Given the description of an element on the screen output the (x, y) to click on. 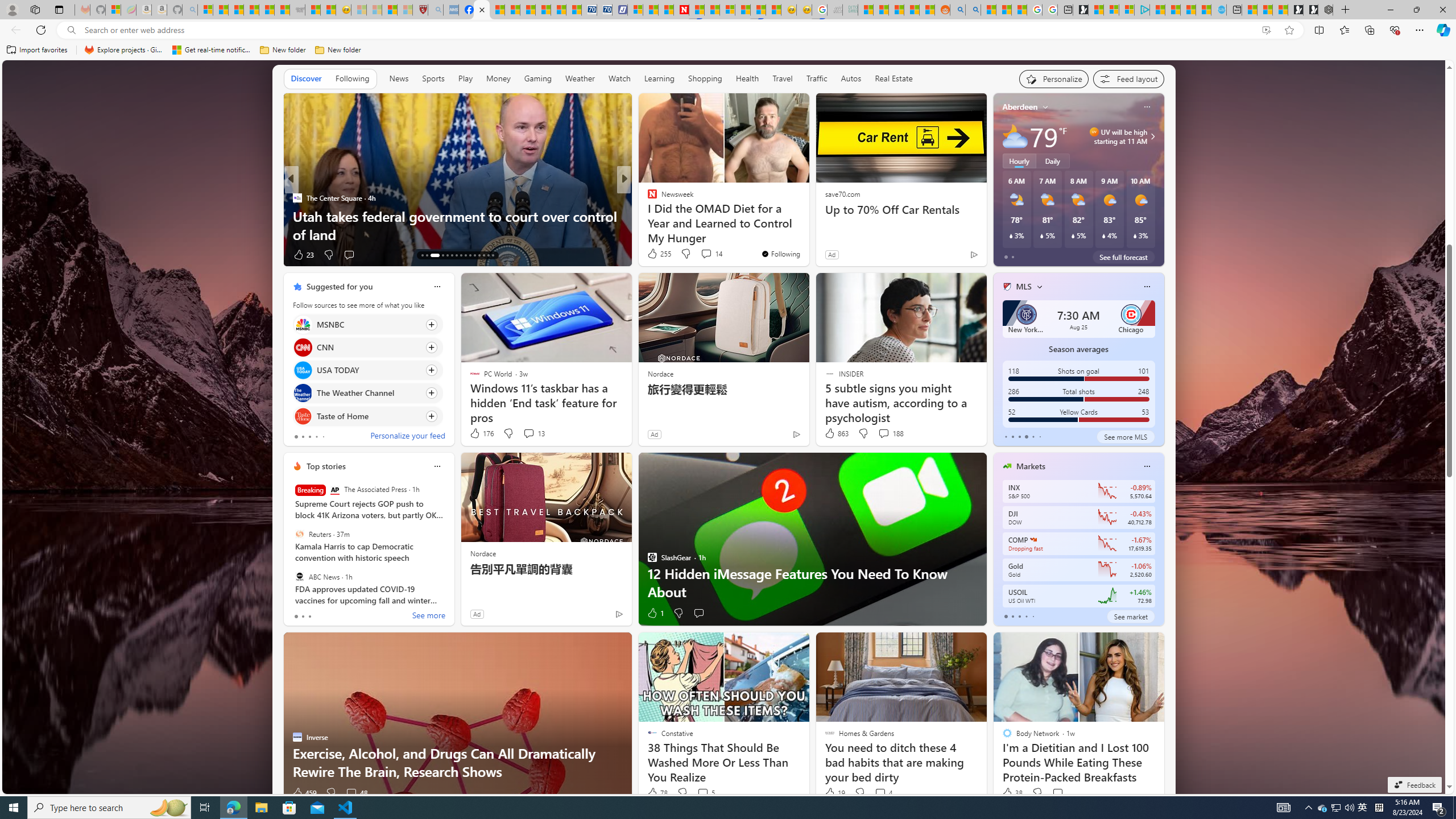
View comments 228 Comment (705, 254)
Click to follow source MSNBC (367, 324)
AutomationID: tab-76 (474, 255)
AutomationID: tab-67 (426, 255)
New folder (337, 49)
